Given the description of an element on the screen output the (x, y) to click on. 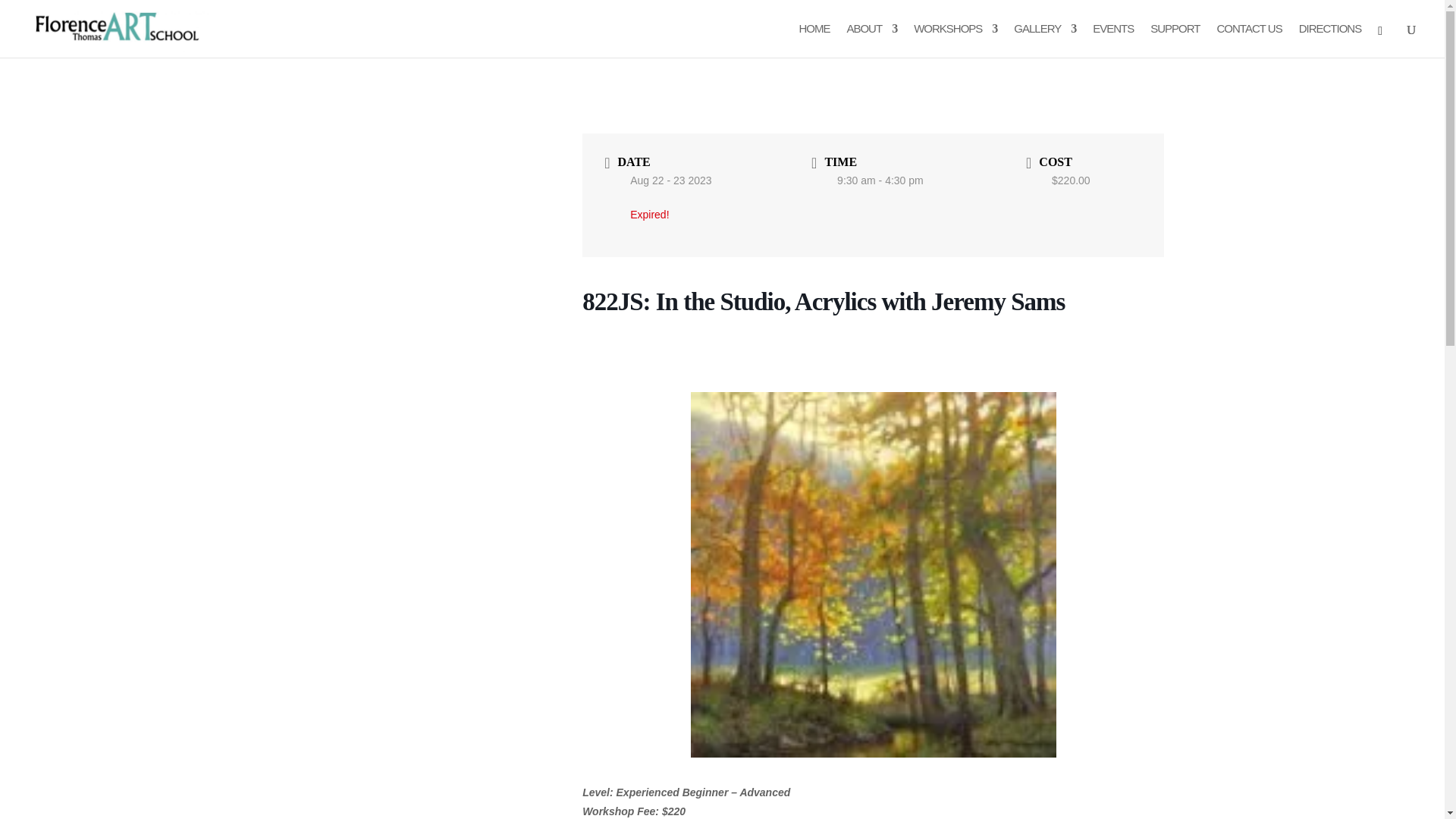
HOME (813, 40)
EVENTS (1113, 40)
DIRECTIONS (1329, 40)
ABOUT (870, 40)
GALLERY (1044, 40)
CONTACT US (1249, 40)
WORKSHOPS (955, 40)
SUPPORT (1174, 40)
